Given the description of an element on the screen output the (x, y) to click on. 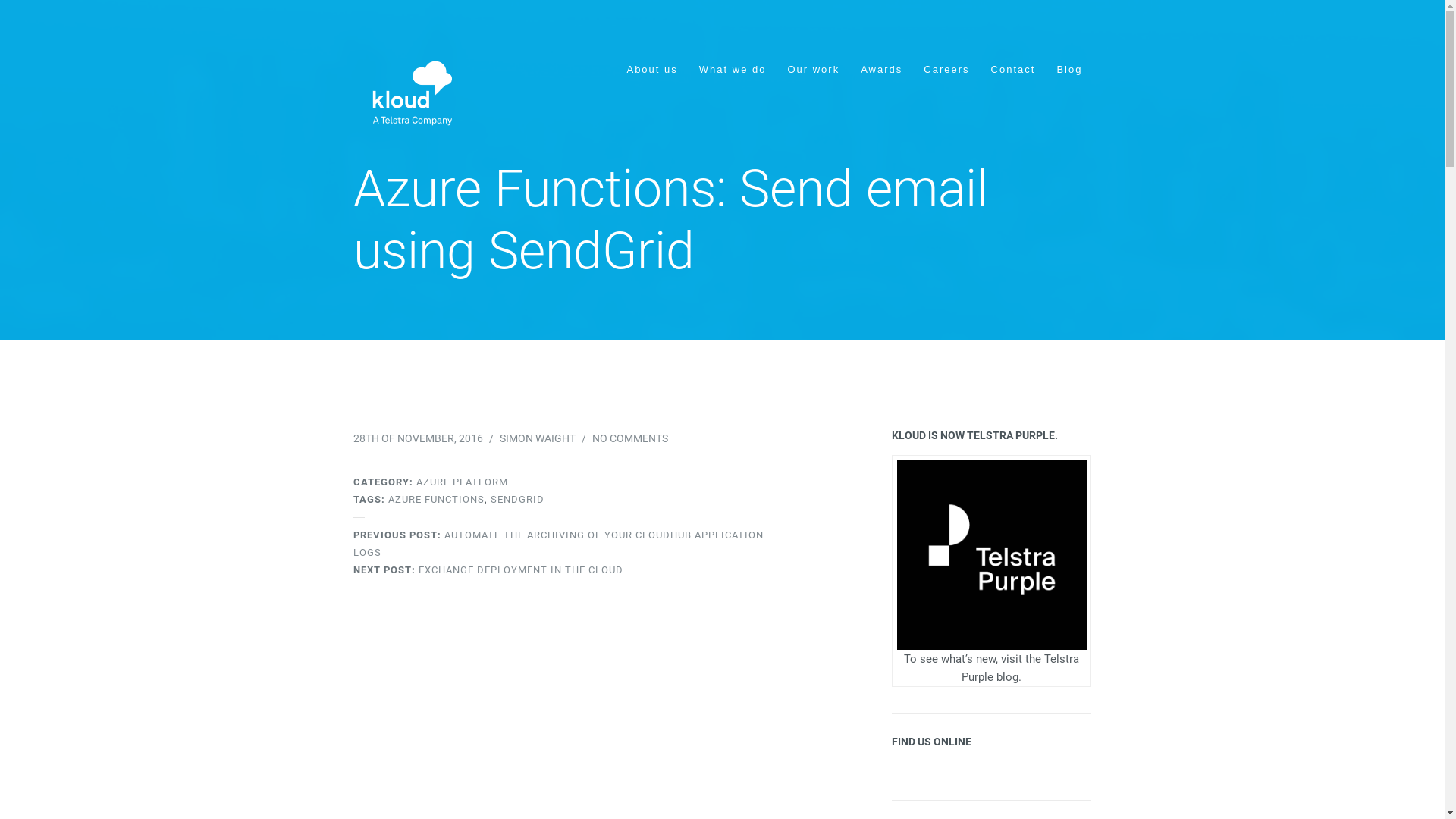
Kloud Blog Element type: hover (410, 92)
AZURE FUNCTIONS Element type: text (436, 499)
Kloud is now Telstra Purple Element type: hover (991, 554)
Our work Element type: text (813, 71)
NEXT POST: EXCHANGE DEPLOYMENT IN THE CLOUD Element type: text (488, 569)
Blog Element type: text (1069, 71)
SIMON WAIGHT Element type: text (537, 438)
SKIP TO CONTENT Element type: text (640, 63)
Contact Element type: text (1013, 71)
Awards Element type: text (881, 71)
AZURE PLATFORM Element type: text (462, 481)
What we do Element type: text (732, 71)
NO COMMENTS Element type: text (630, 438)
About us Element type: text (651, 71)
Careers Element type: text (946, 71)
SENDGRID Element type: text (517, 499)
